Given the description of an element on the screen output the (x, y) to click on. 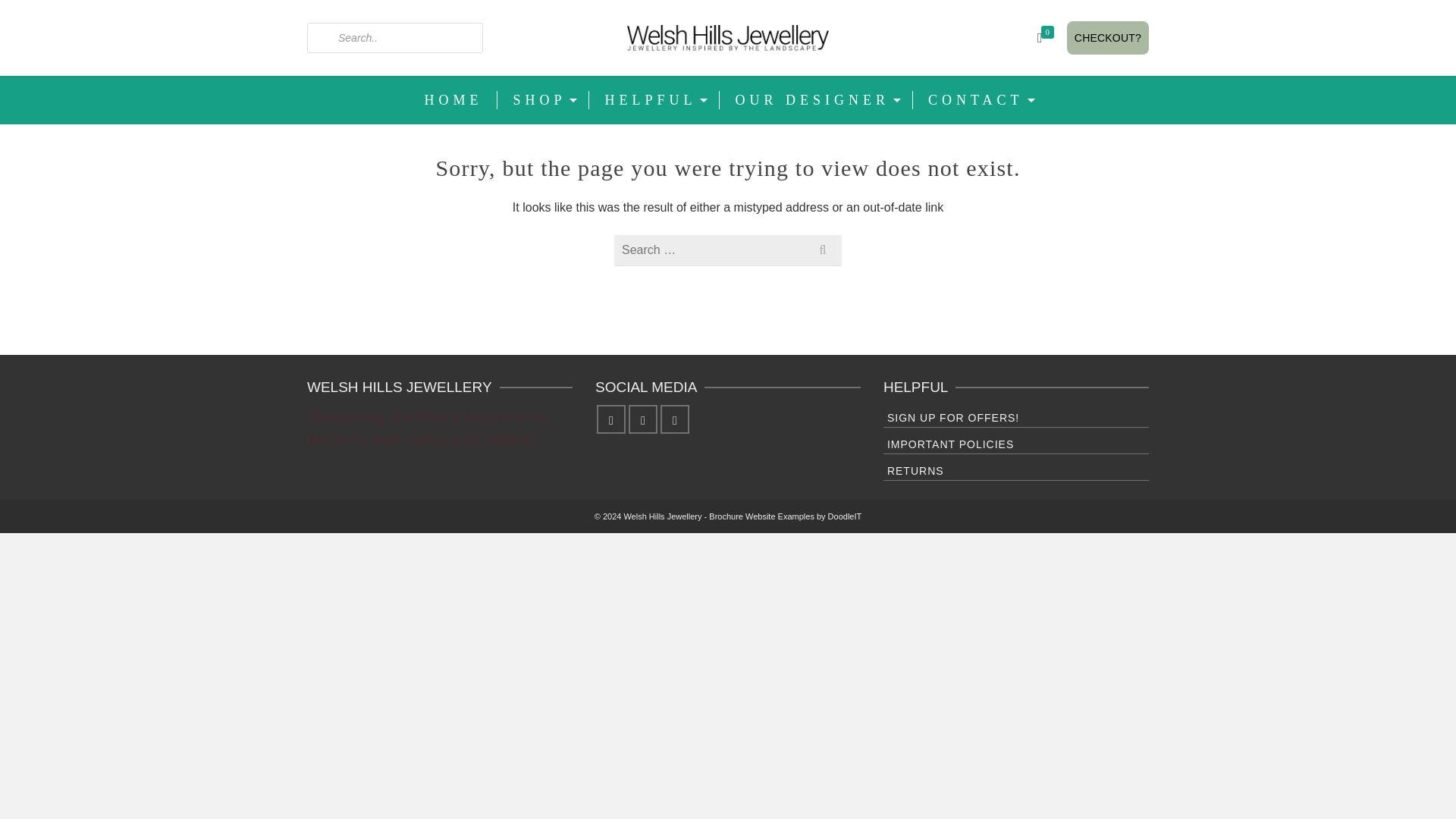
SIGN UP FOR OFFERS! (1015, 415)
IMPORTANT POLICIES (1015, 442)
SHOP (543, 100)
HELPFUL (654, 100)
Examples of brochure websites by DoodleIT (785, 515)
HOME (453, 100)
OUR DESIGNER (815, 100)
Brochure Website Examples by DoodleIT (785, 515)
CHECKOUT? (1107, 37)
RETURNS (1015, 468)
